Given the description of an element on the screen output the (x, y) to click on. 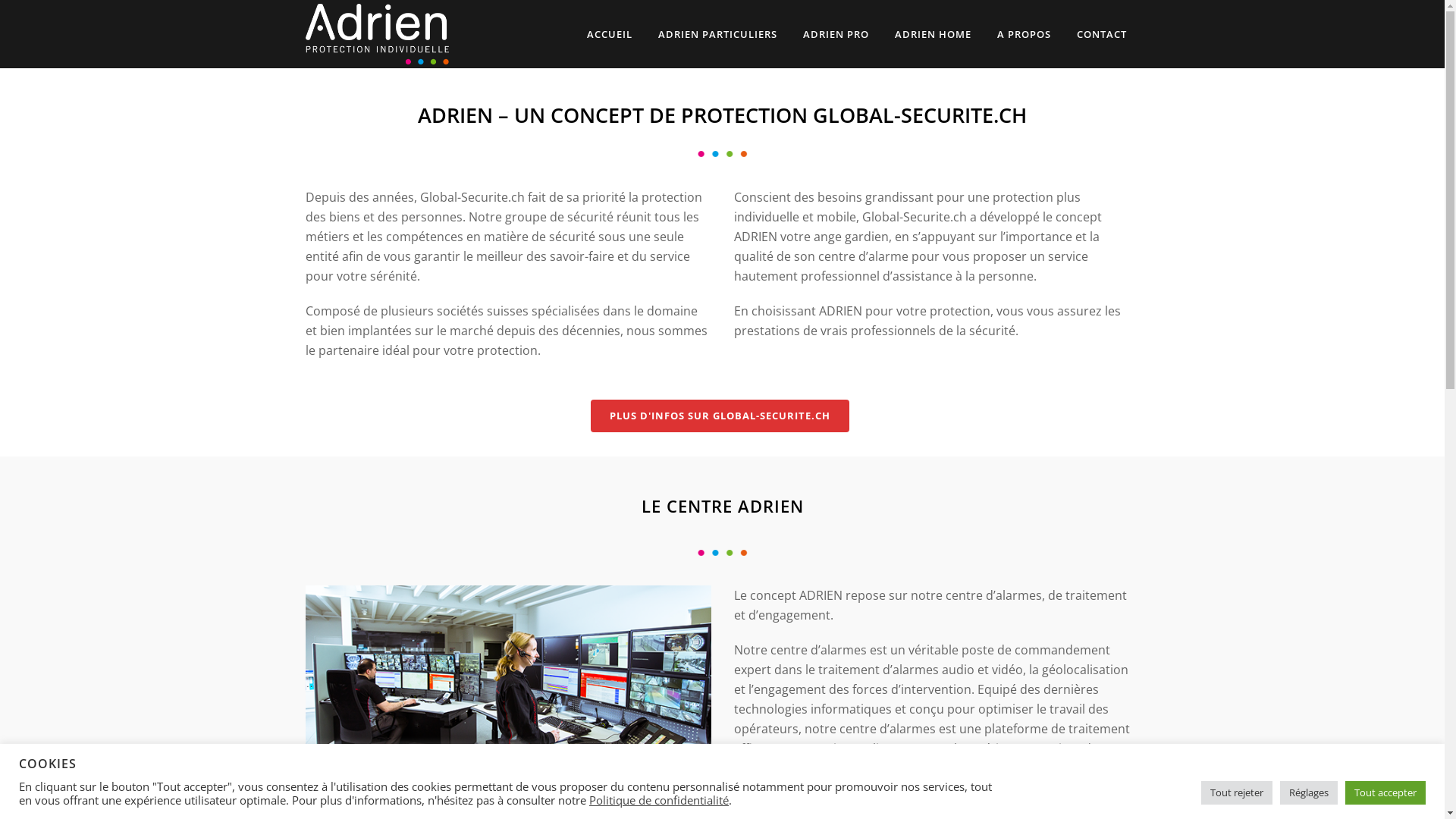
ADRIEN HOME Element type: text (932, 34)
ADRIEN PARTICULIERS Element type: text (716, 34)
CONTACT Element type: text (1101, 34)
Tout accepter Element type: text (1385, 792)
PLUS D'INFOS SUR GLOBAL-SECURITE.CH Element type: text (719, 415)
A PROPOS Element type: text (1023, 34)
adrien_protection_individuelle_points Element type: hover (721, 153)
CENTRALE Element type: hover (507, 686)
Tout rejeter Element type: text (1236, 792)
adrien_protection_individuelle_points Element type: hover (721, 552)
ACCUEIL Element type: text (608, 34)
ADRIEN PRO Element type: text (835, 34)
